Given the description of an element on the screen output the (x, y) to click on. 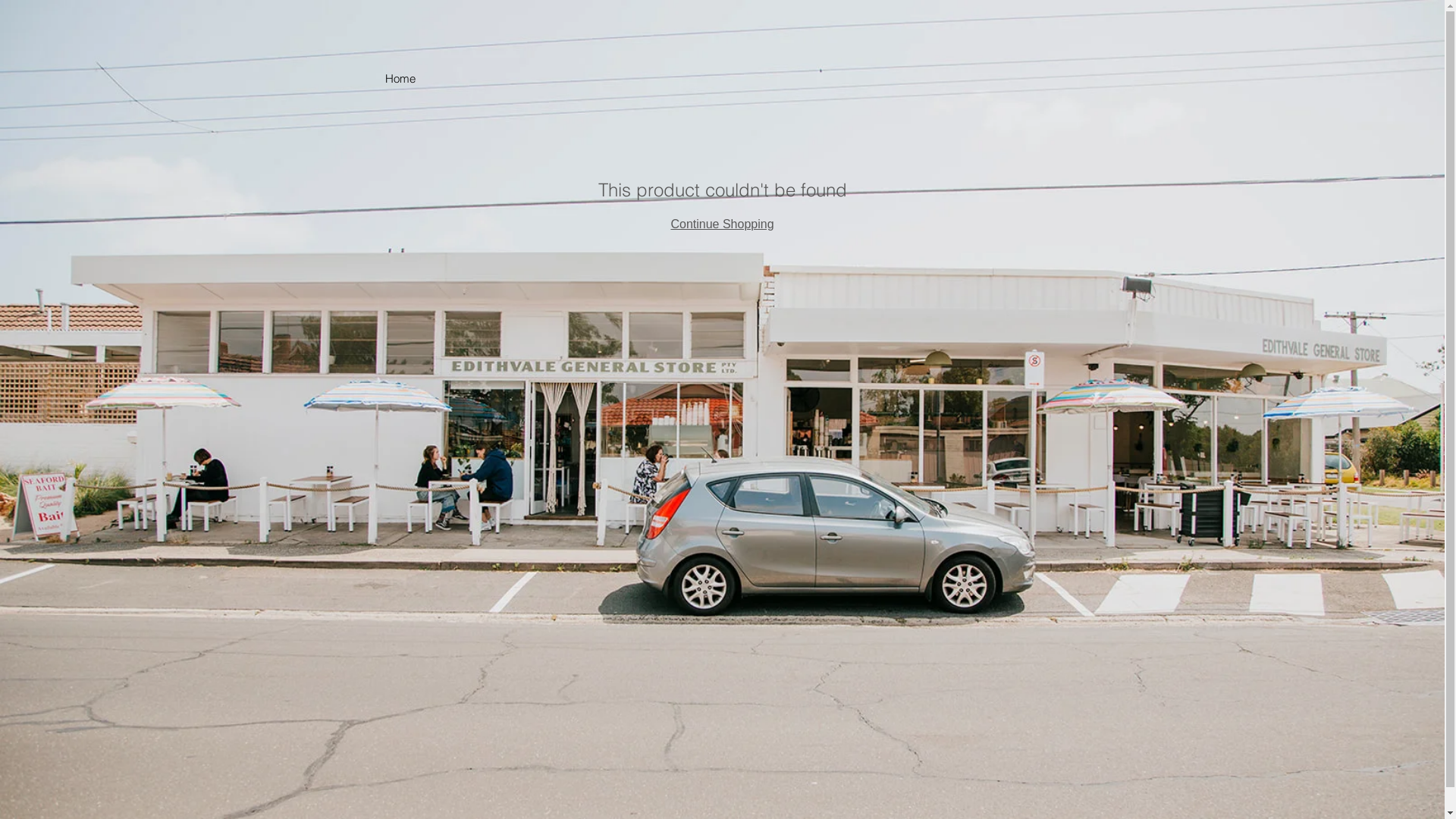
Continue Shopping Element type: text (721, 223)
Home Element type: text (400, 78)
